Given the description of an element on the screen output the (x, y) to click on. 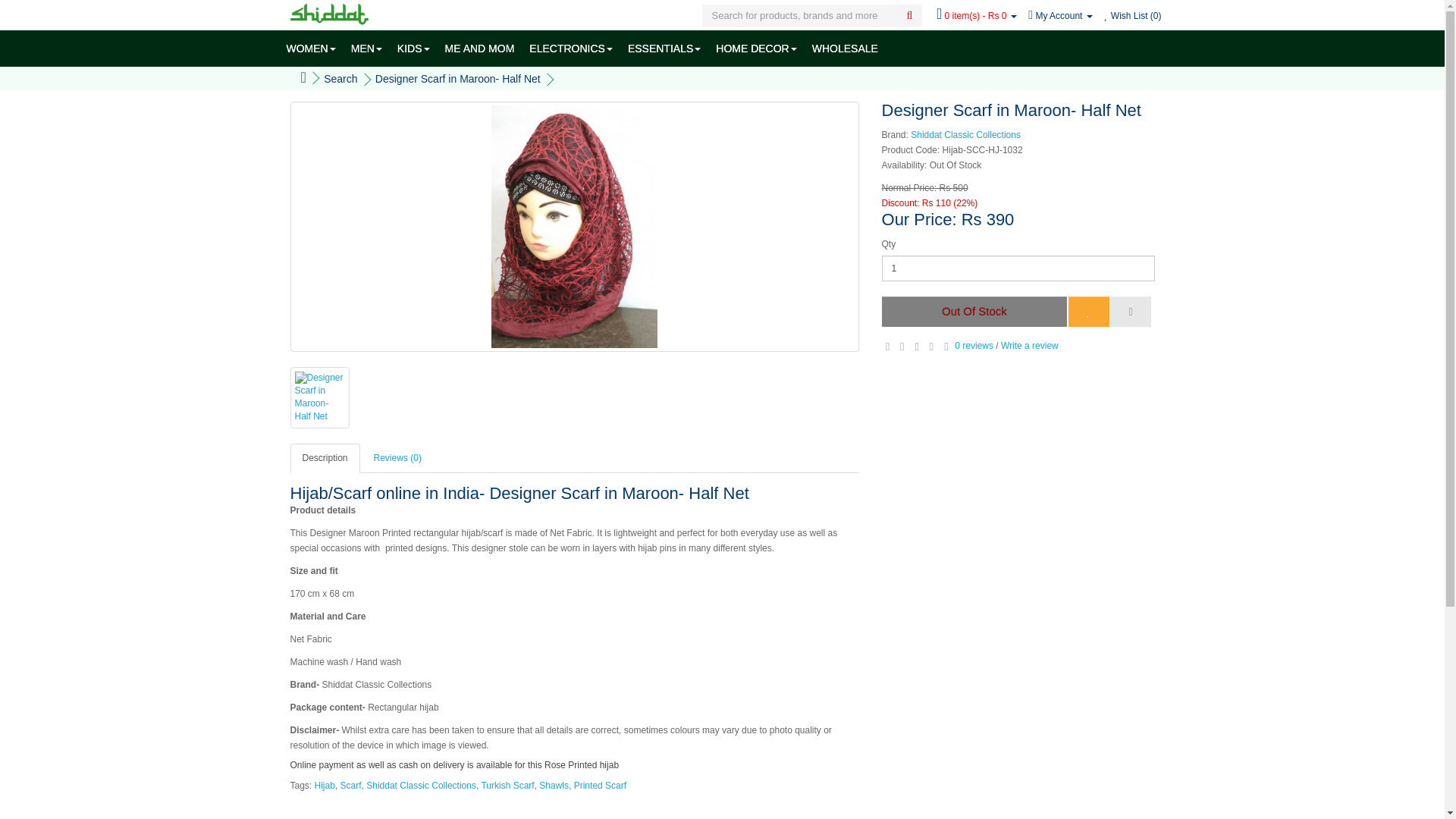
Checkout Cart (976, 15)
ELECTRONICS (570, 48)
KIDS (414, 48)
Designer Scarf in Maroon- Half Net (573, 226)
Shiddat (329, 13)
Designer Scarf in Maroon- Half Net (319, 397)
ME AND MOM (480, 48)
Designer Scarf in Maroon- Half Net (318, 397)
My Account (1060, 15)
My Account (1060, 15)
WOMEN (311, 48)
1 (1018, 268)
MEN (366, 48)
